Given the description of an element on the screen output the (x, y) to click on. 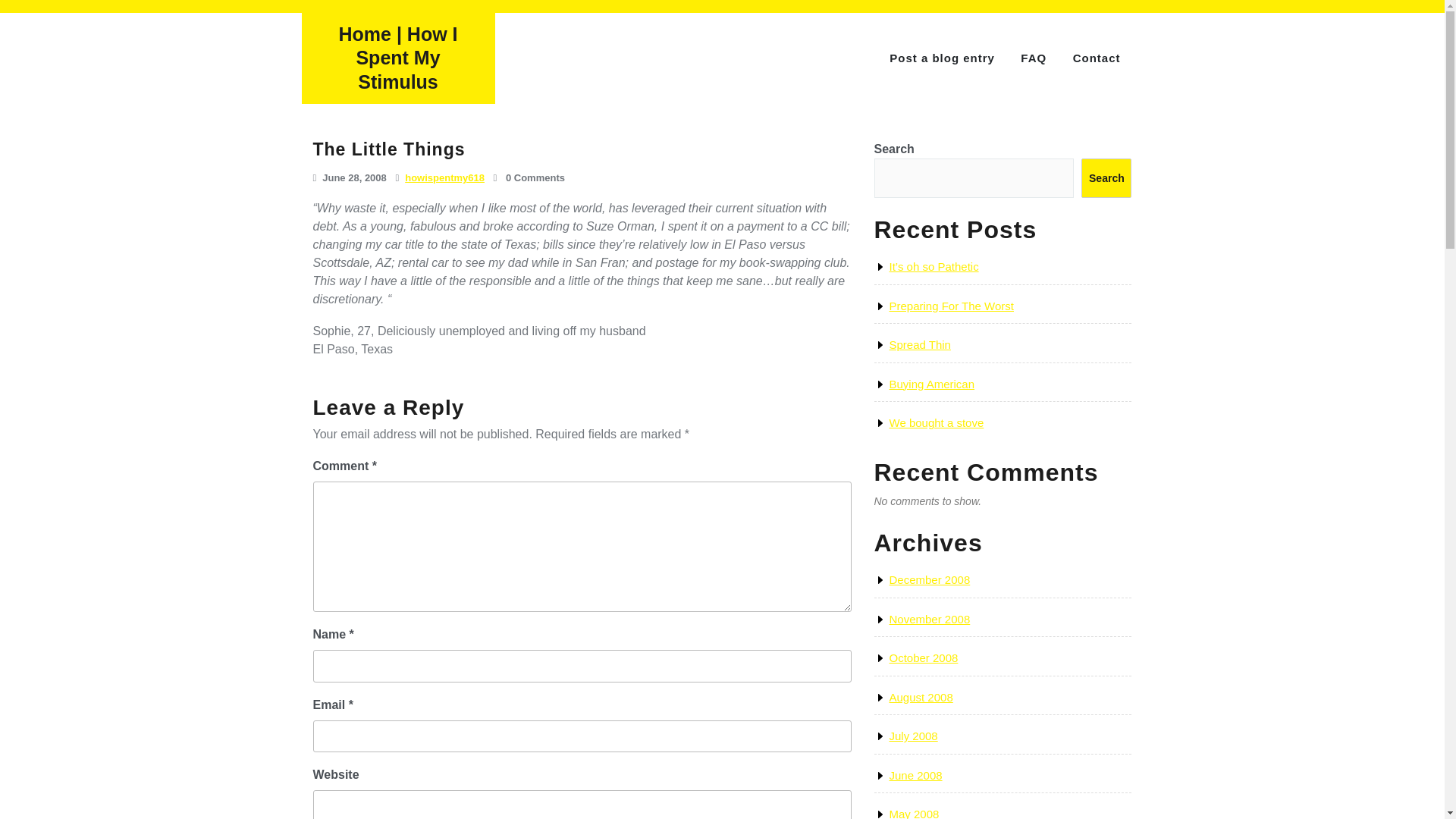
October 2008 (923, 657)
June 2008 (915, 775)
Post a blog entry (941, 58)
Preparing For The Worst (950, 305)
May 2008 (913, 813)
December 2008 (928, 579)
Search (1106, 178)
Contact (1096, 58)
FAQ (1033, 58)
July 2008 (912, 735)
